Given the description of an element on the screen output the (x, y) to click on. 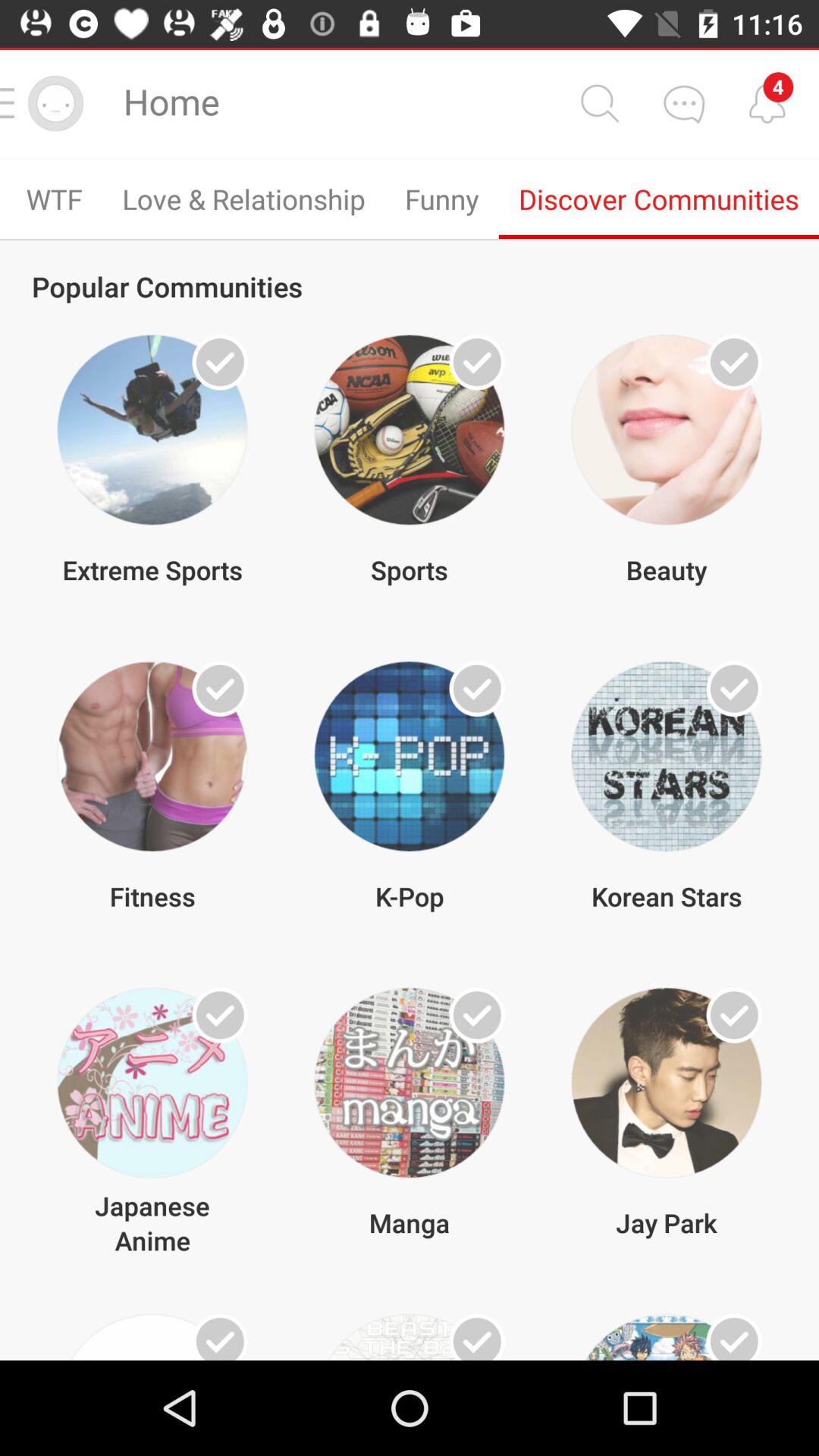
select beauty community (734, 362)
